Given the description of an element on the screen output the (x, y) to click on. 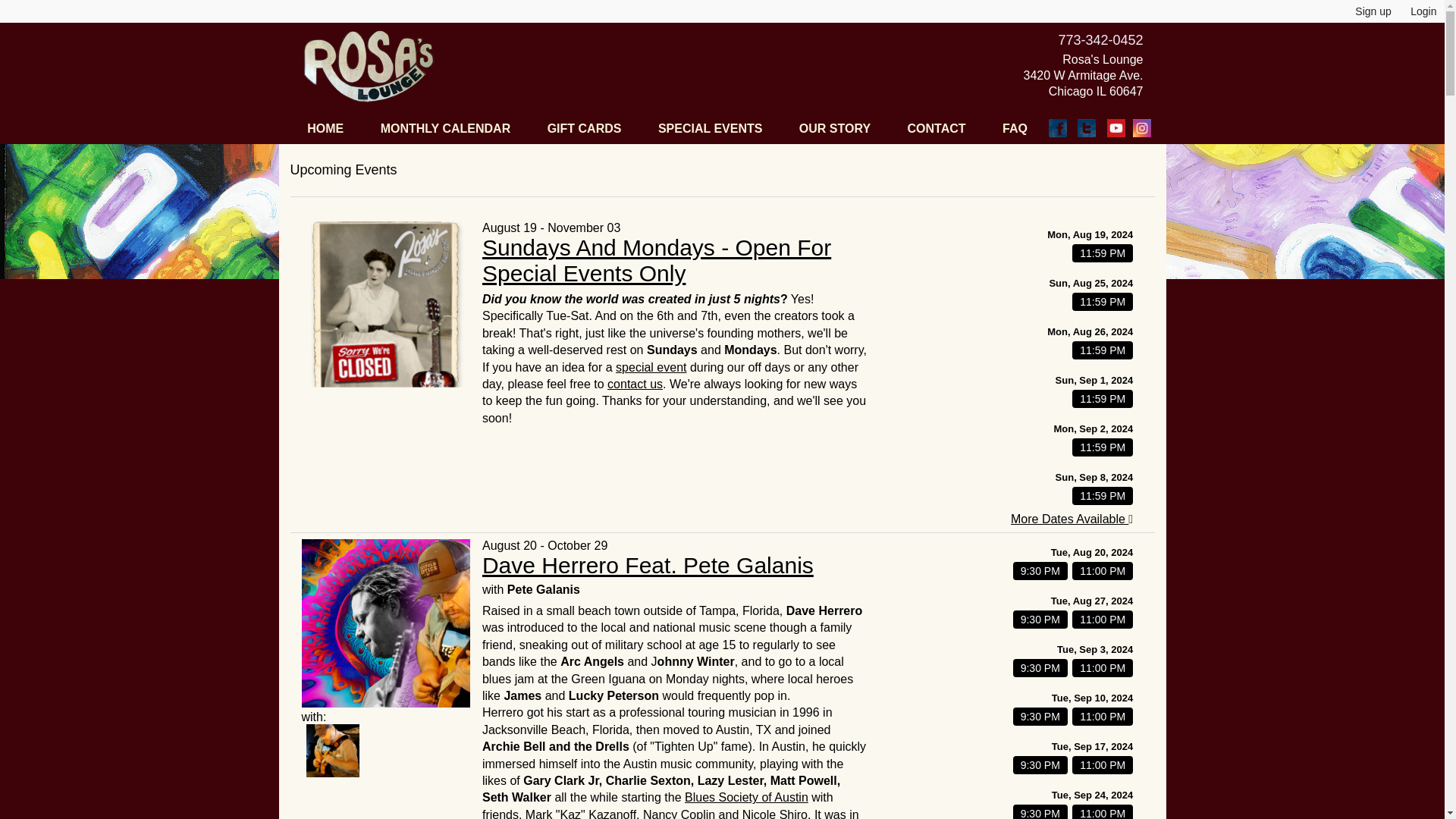
OUR STORY (834, 128)
contact us (634, 383)
FAQ (1014, 128)
CONTACT (936, 128)
Sundays And Mondays - Open For Special Events Only (656, 260)
special event (650, 367)
Sign up (1373, 10)
SPECIAL EVENTS (710, 128)
773-342-0452 (1100, 39)
GIFT CARDS (585, 128)
